Given the description of an element on the screen output the (x, y) to click on. 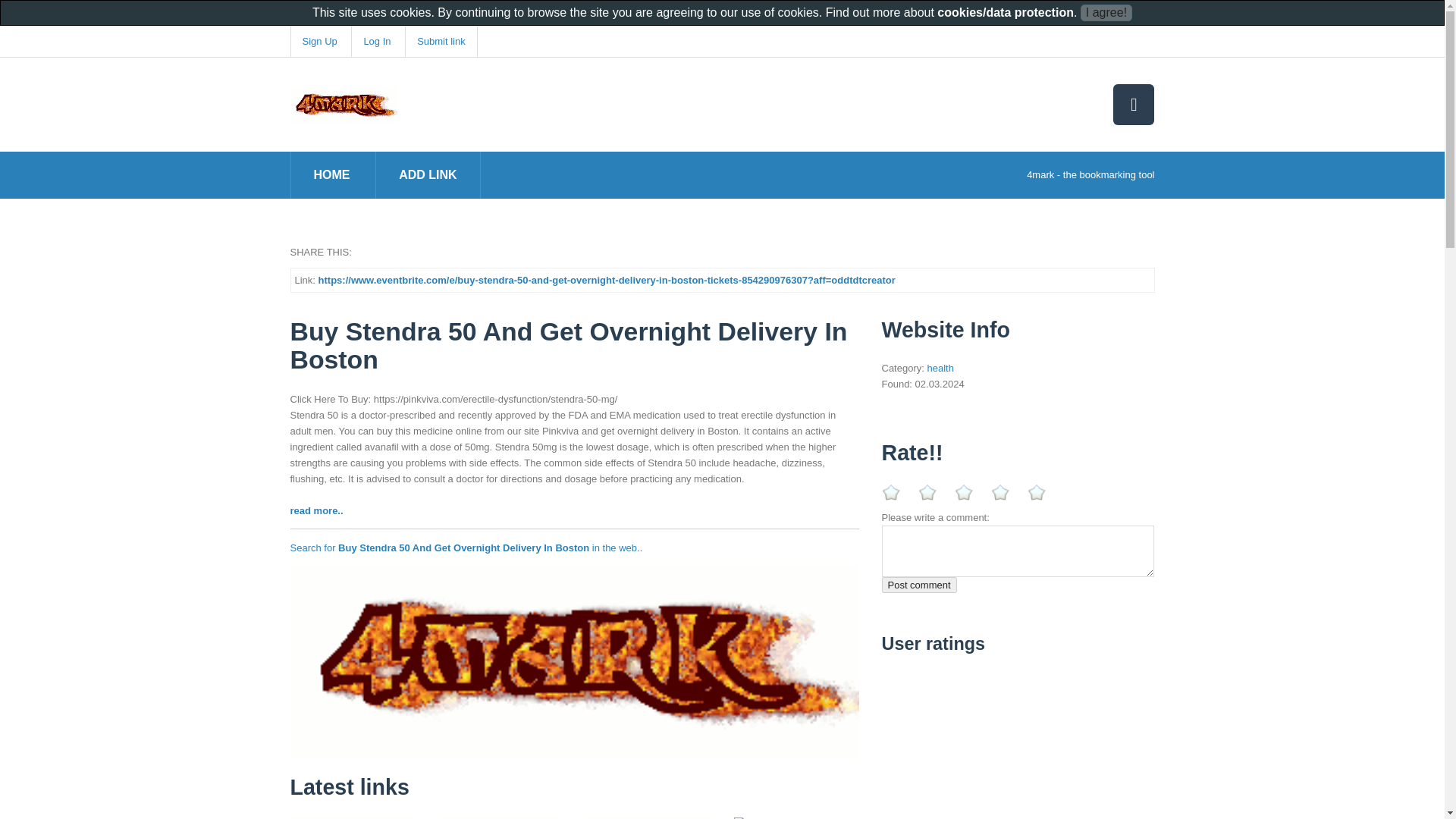
Click to view! (574, 660)
ADD LINK (427, 174)
Sign Up (318, 40)
HOME (332, 174)
Post comment (918, 584)
Submit link (440, 40)
read more.. (315, 510)
Log In (375, 40)
I agree! (1106, 12)
